Given the description of an element on the screen output the (x, y) to click on. 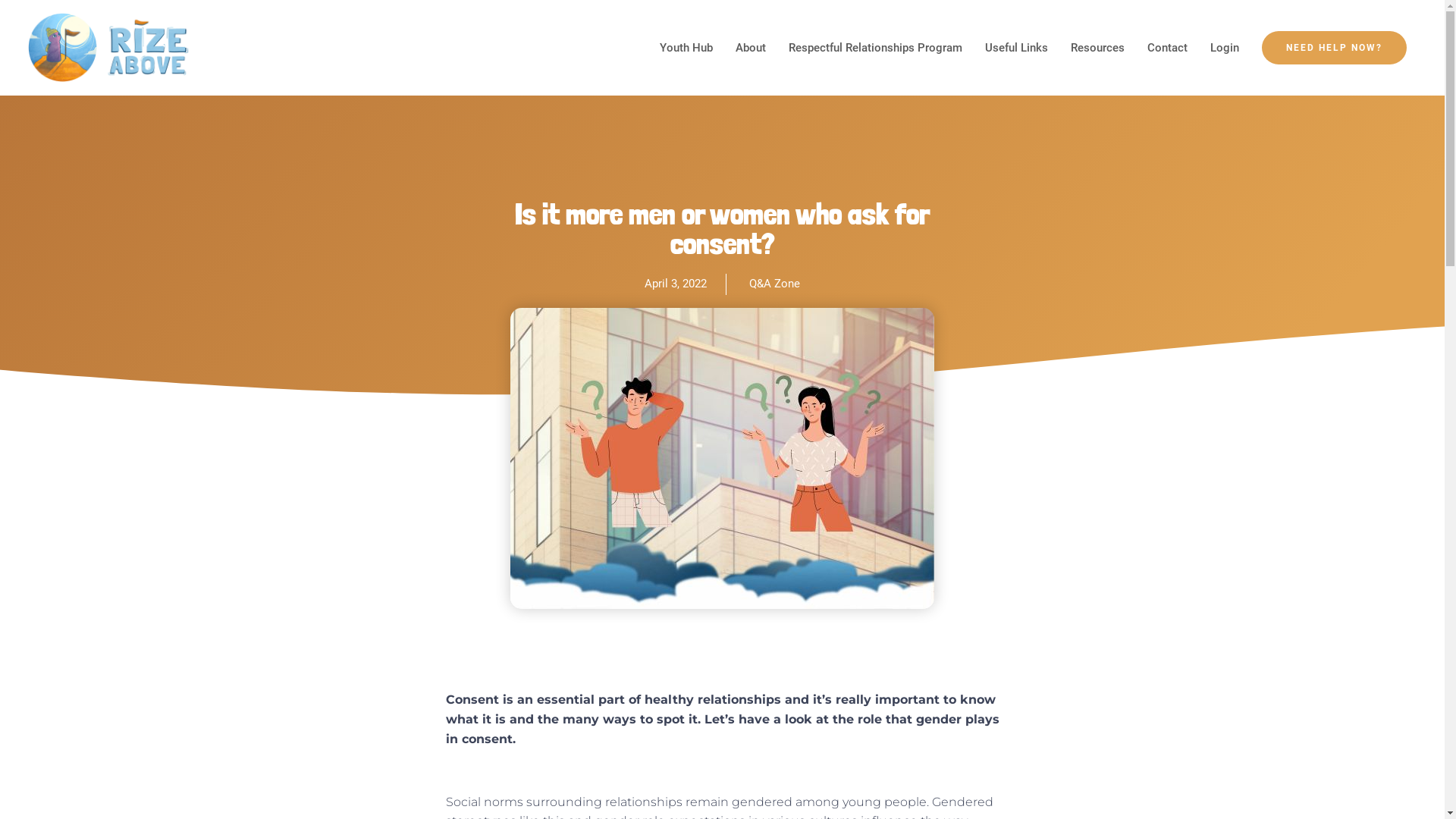
Q&A Zone Element type: text (774, 283)
April 3, 2022 Element type: text (675, 283)
Respectful Relationships Program Element type: text (875, 47)
Resources Element type: text (1097, 47)
Useful Links Element type: text (1016, 47)
About Element type: text (750, 47)
Login Element type: text (1224, 47)
NEED HELP NOW? Element type: text (1333, 47)
Youth Hub Element type: text (686, 47)
Contact Element type: text (1166, 47)
